Given the description of an element on the screen output the (x, y) to click on. 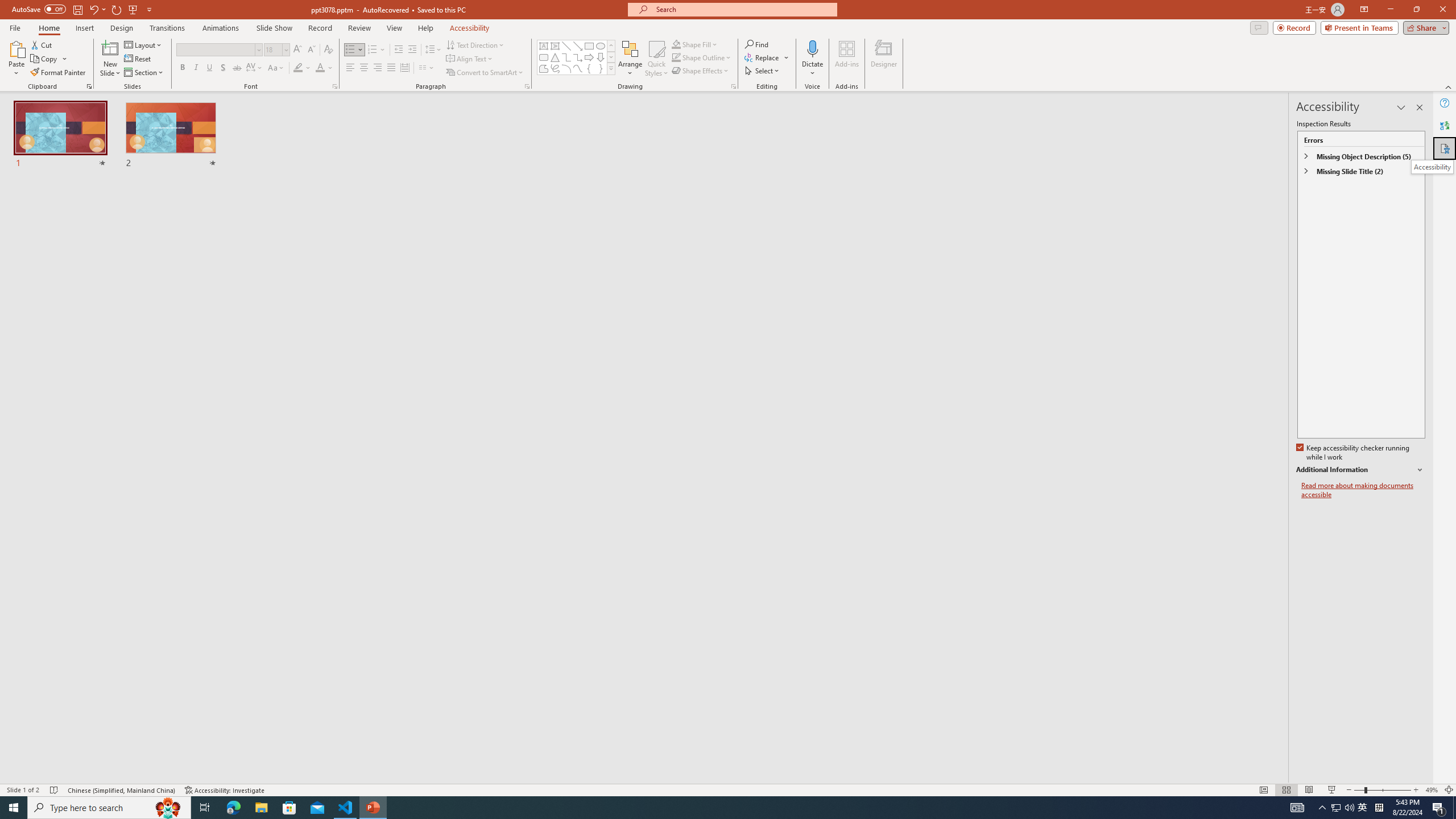
Read more about making documents accessible (1363, 489)
